Given the description of an element on the screen output the (x, y) to click on. 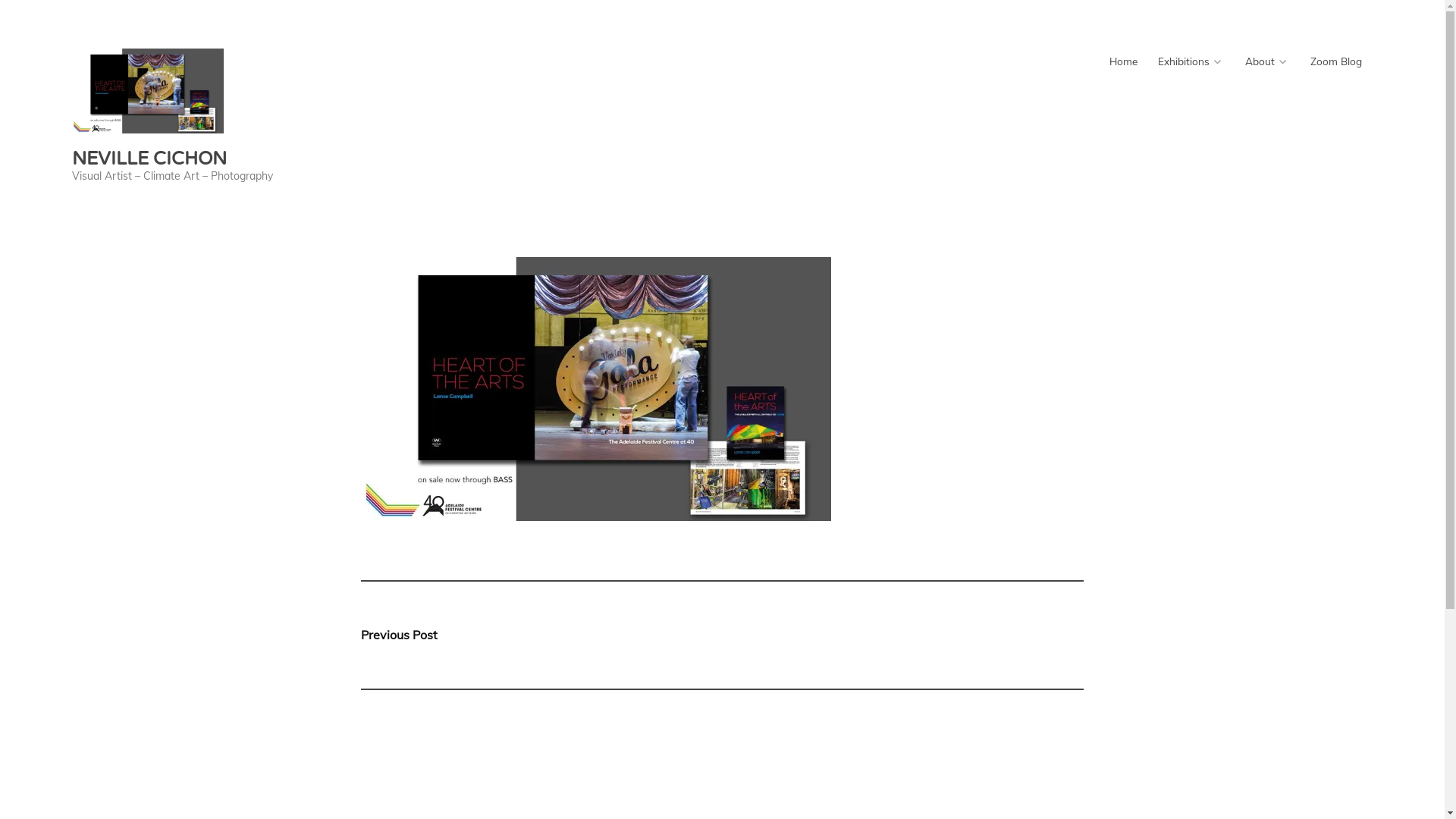
Home Element type: text (1122, 61)
Zoom Blog Element type: text (1336, 61)
About Element type: text (1266, 61)
Previous Post Element type: text (540, 634)
NEVILLE CICHON Element type: text (149, 158)
Exhibitions Element type: text (1190, 61)
